Given the description of an element on the screen output the (x, y) to click on. 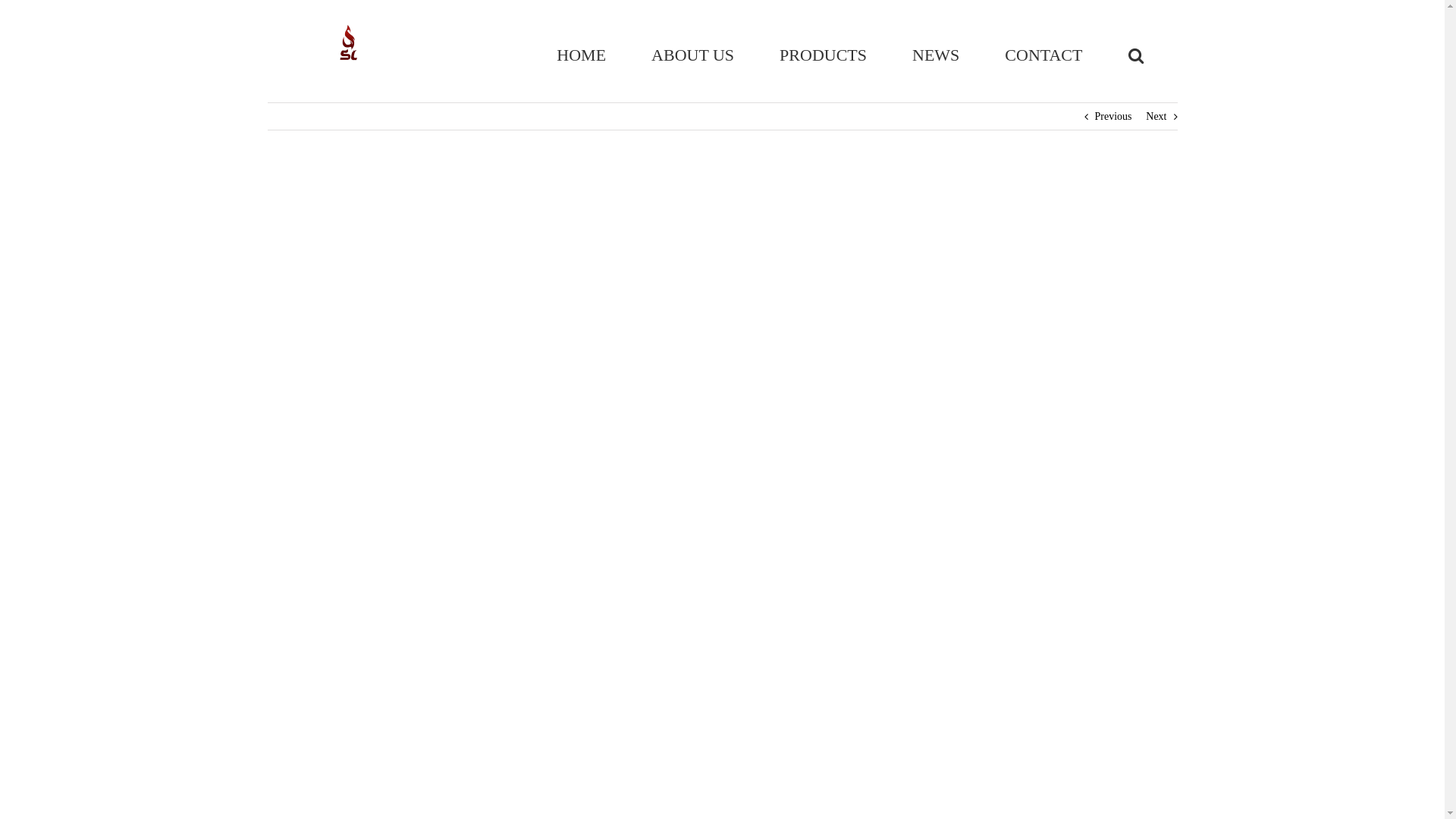
ABOUT US Element type: text (692, 55)
Previous Element type: text (1113, 116)
NEWS Element type: text (935, 55)
Search Element type: hover (1135, 55)
HOME Element type: text (581, 55)
PRODUCTS Element type: text (823, 55)
CONTACT Element type: text (1043, 55)
Next Element type: text (1155, 116)
